Given the description of an element on the screen output the (x, y) to click on. 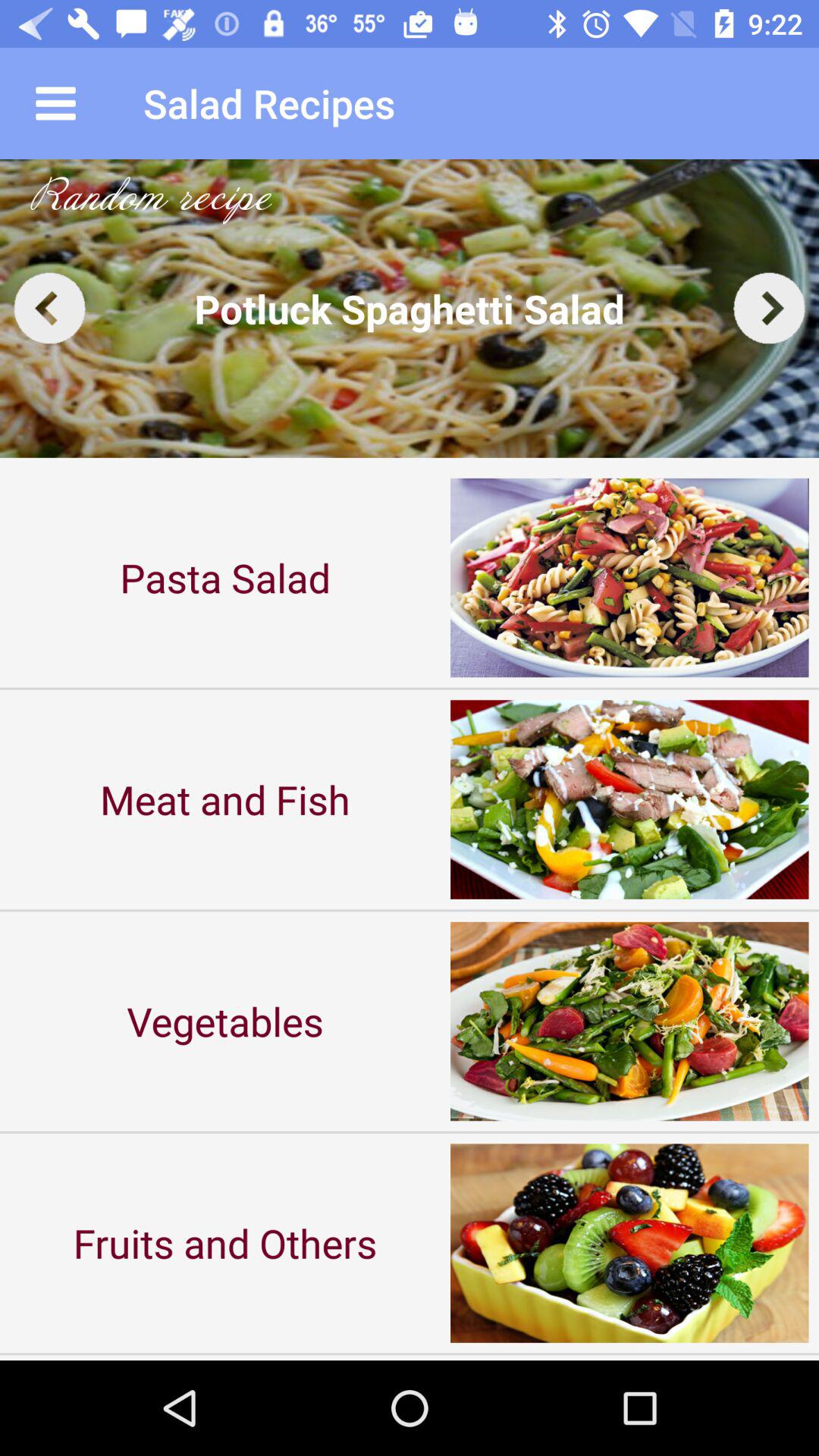
launch icon above vegetables (225, 798)
